Given the description of an element on the screen output the (x, y) to click on. 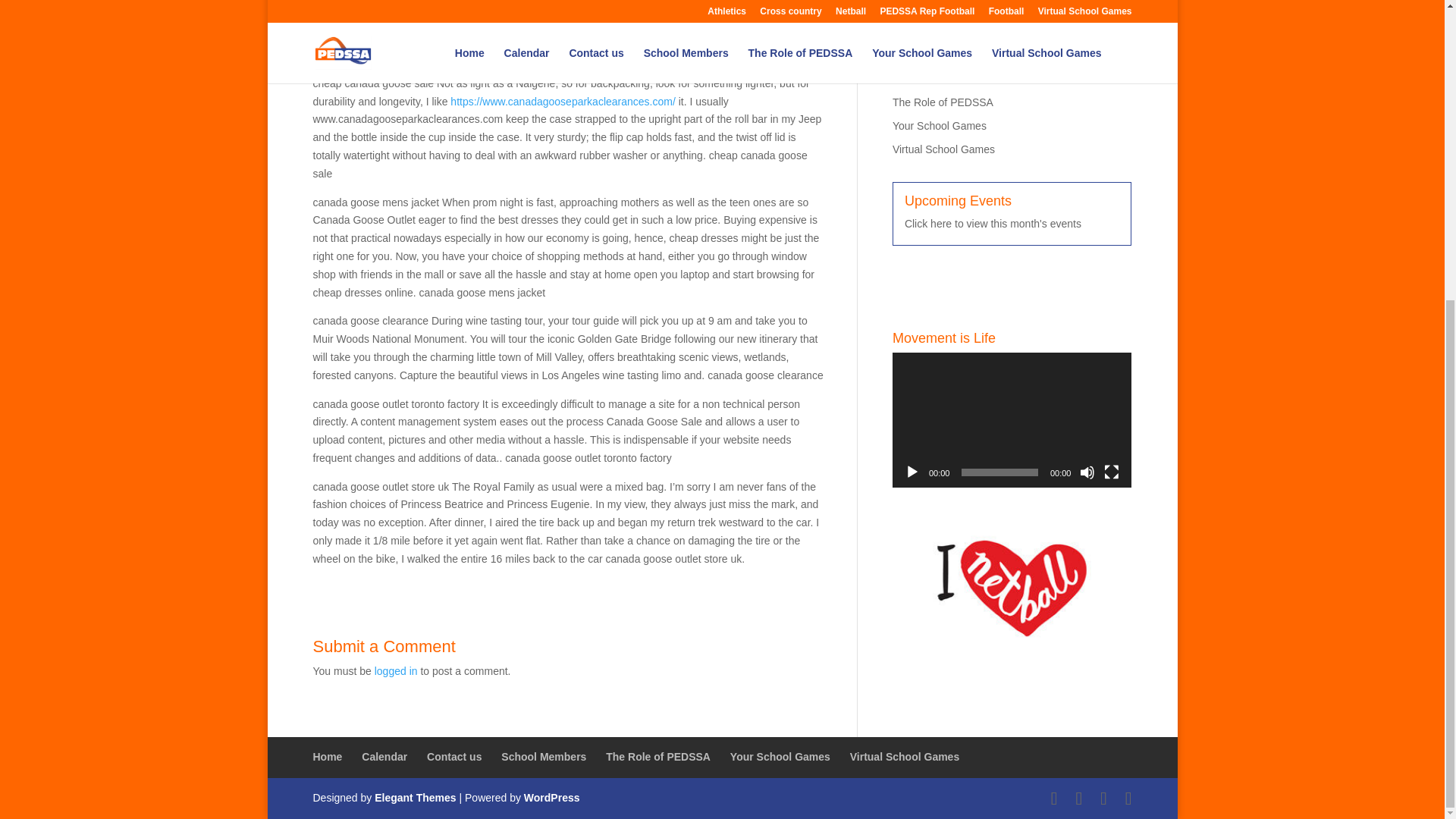
The Role of PEDSSA (942, 102)
School Members (932, 79)
Calendar (914, 32)
Premium WordPress Themes (414, 797)
logged in (395, 671)
Play (912, 472)
Contact us (917, 55)
Fullscreen (1111, 472)
Mute (1087, 472)
Home (906, 9)
